Given the description of an element on the screen output the (x, y) to click on. 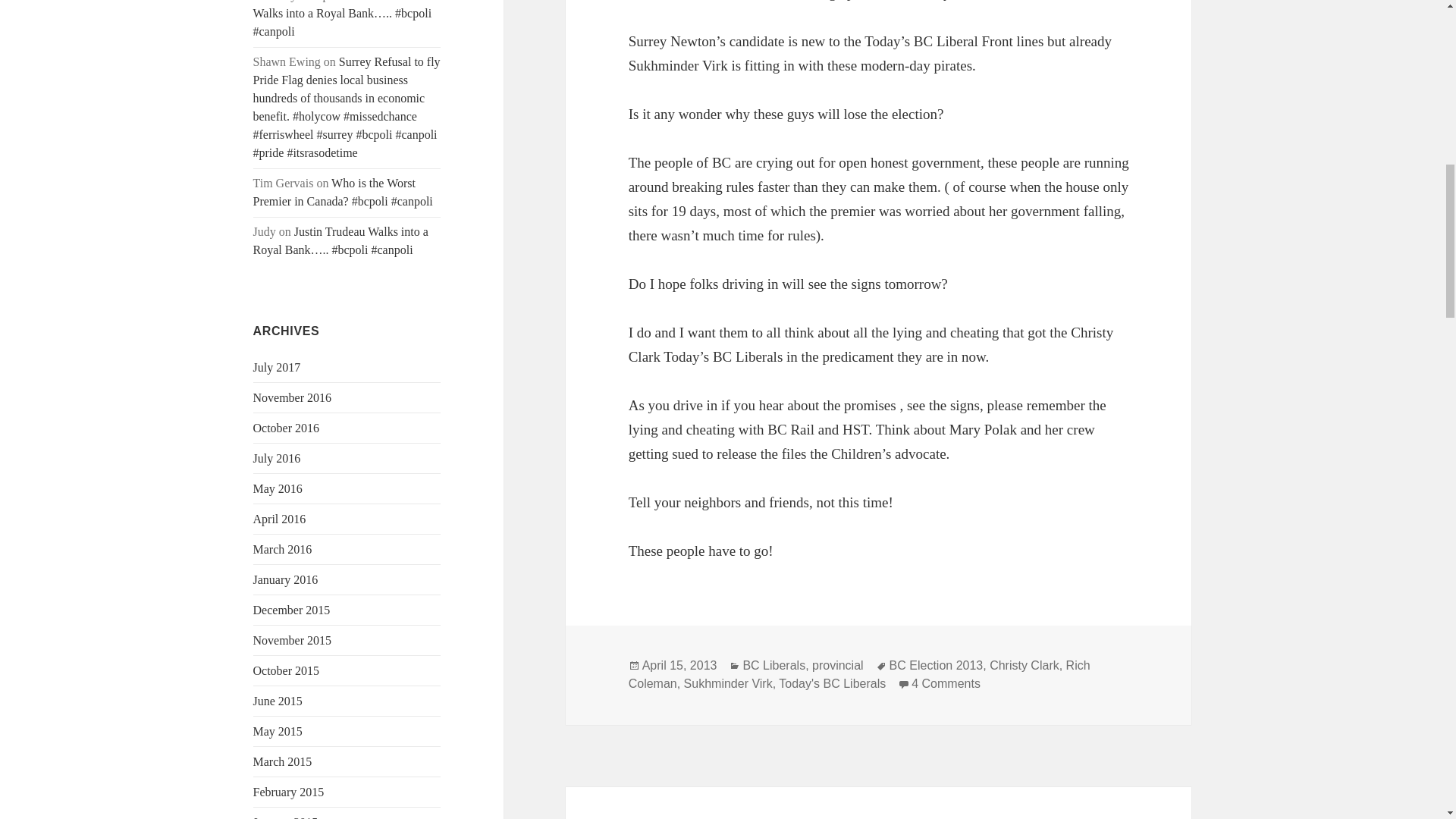
January 2015 (285, 817)
June 2015 (277, 700)
January 2016 (285, 579)
April 2016 (279, 518)
March 2015 (283, 761)
February 2015 (288, 791)
November 2015 (292, 640)
July 2016 (277, 458)
July 2017 (277, 367)
October 2015 (286, 670)
May 2015 (277, 730)
March 2016 (283, 549)
October 2016 (286, 427)
December 2015 (291, 609)
May 2016 (277, 488)
